Given the description of an element on the screen output the (x, y) to click on. 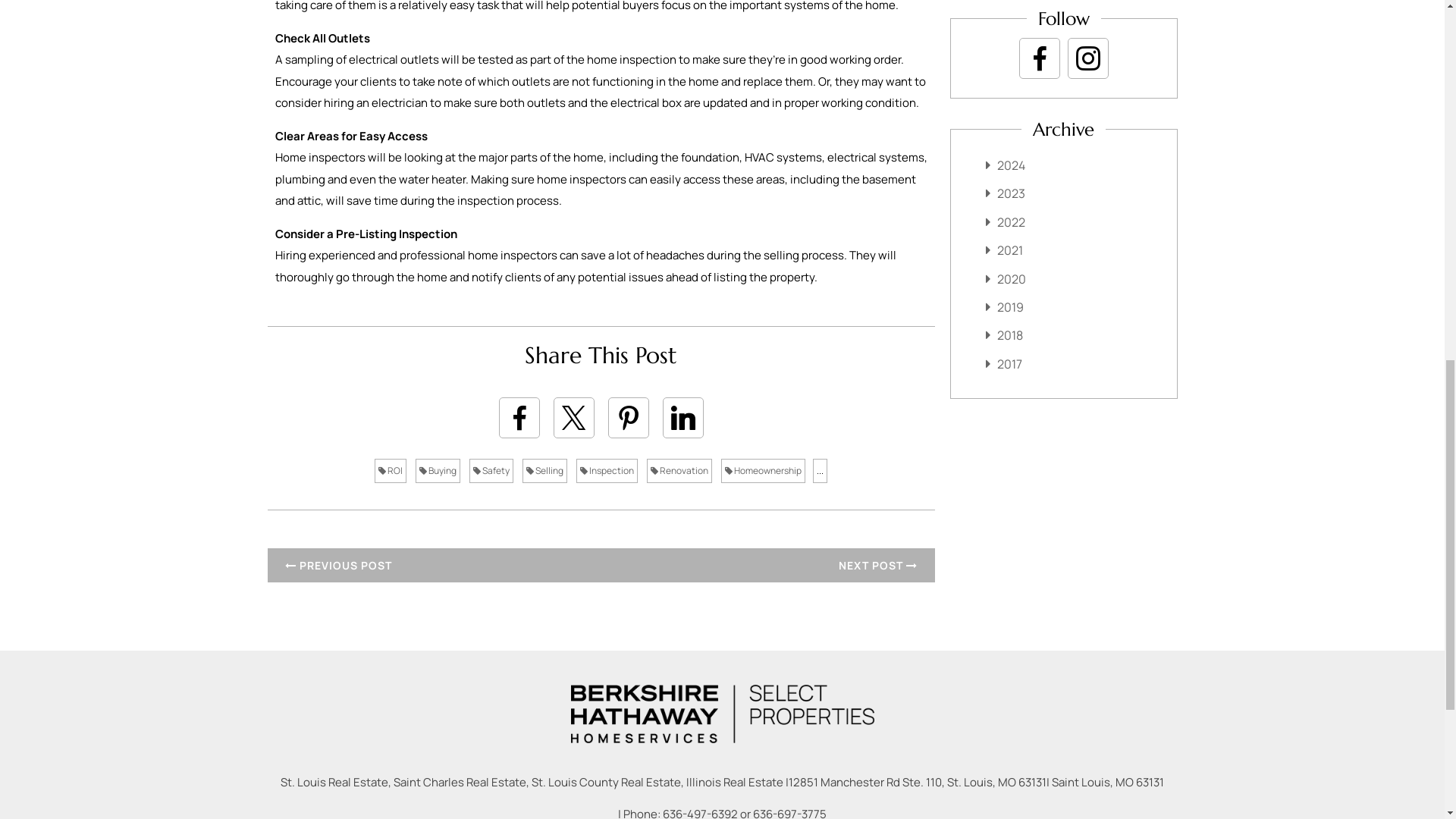
Visit us on Facebook (1038, 57)
Visit us on Instagram (1087, 57)
Share on Linked In (682, 417)
Share on Pinterest (628, 417)
Share on Facebook (519, 417)
Share on X (573, 417)
